Given the description of an element on the screen output the (x, y) to click on. 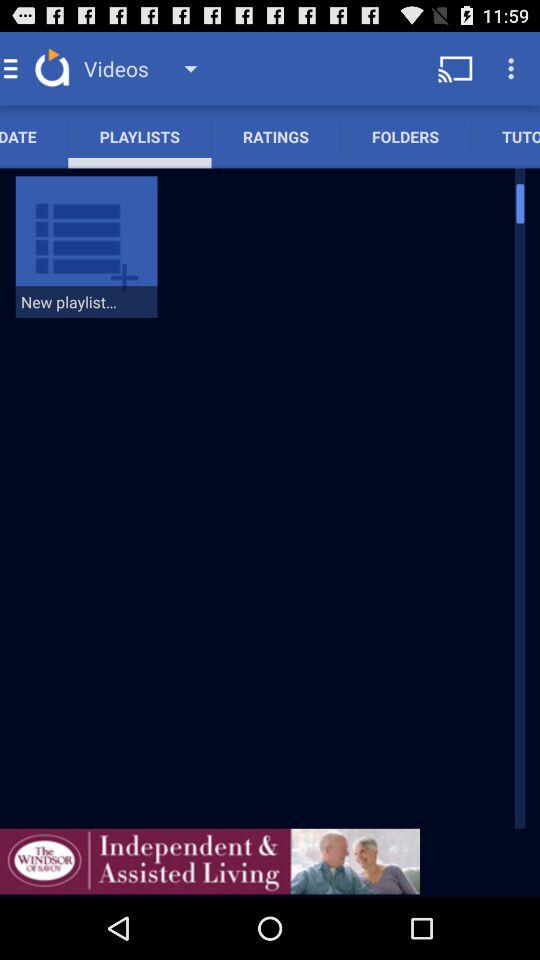
see advertisement (210, 861)
